Given the description of an element on the screen output the (x, y) to click on. 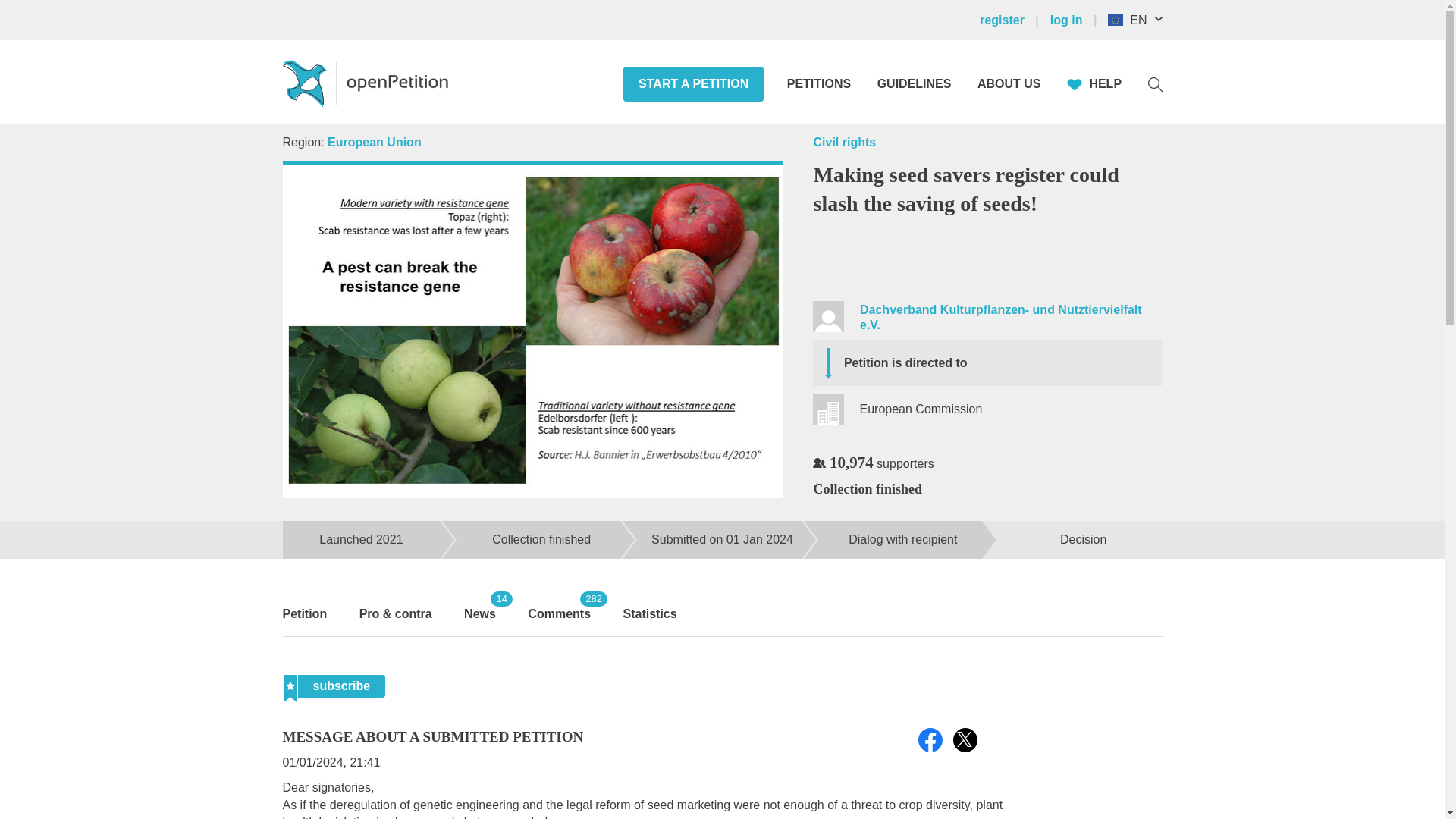
register (1012, 19)
  EN (1142, 19)
log in (1075, 19)
